Given the description of an element on the screen output the (x, y) to click on. 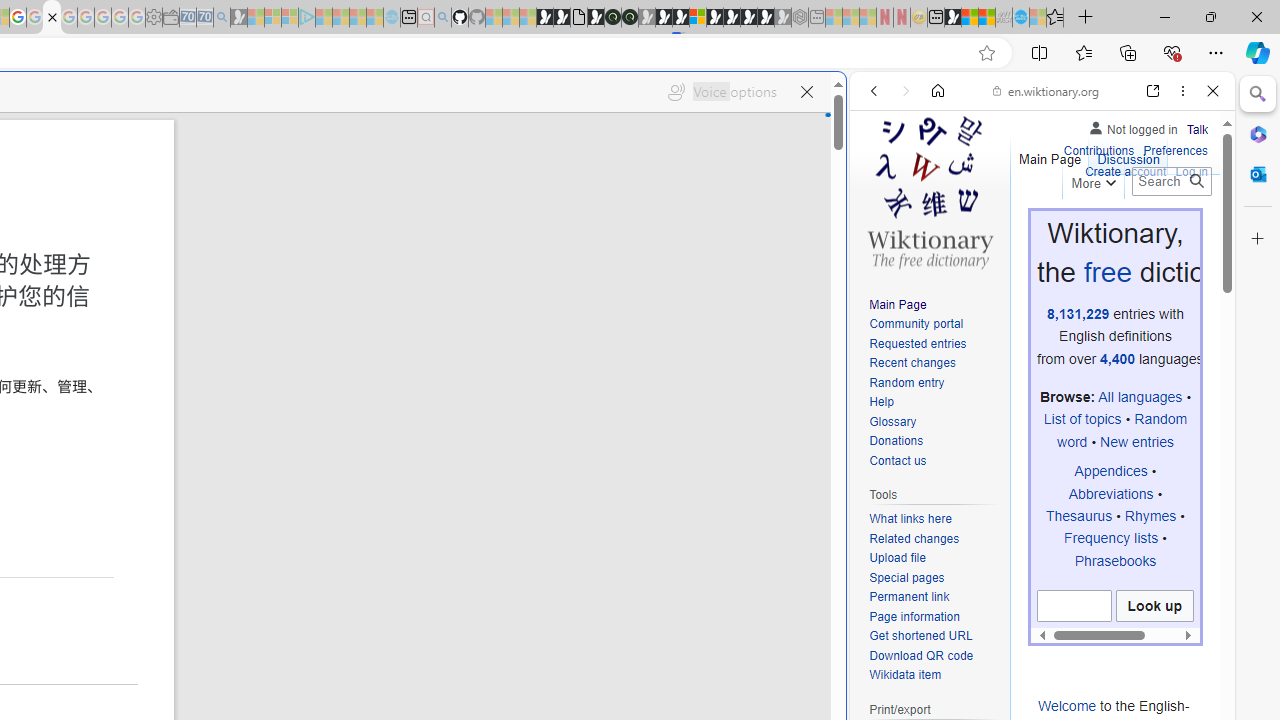
Search or enter web address (343, 191)
Contributions (1098, 151)
Microsoft Start Gaming - Sleeping (238, 17)
Global web icon (888, 669)
Community portal (916, 323)
Wallet - Sleeping (170, 17)
Rhymes (1150, 515)
Glossary (892, 421)
